Given the description of an element on the screen output the (x, y) to click on. 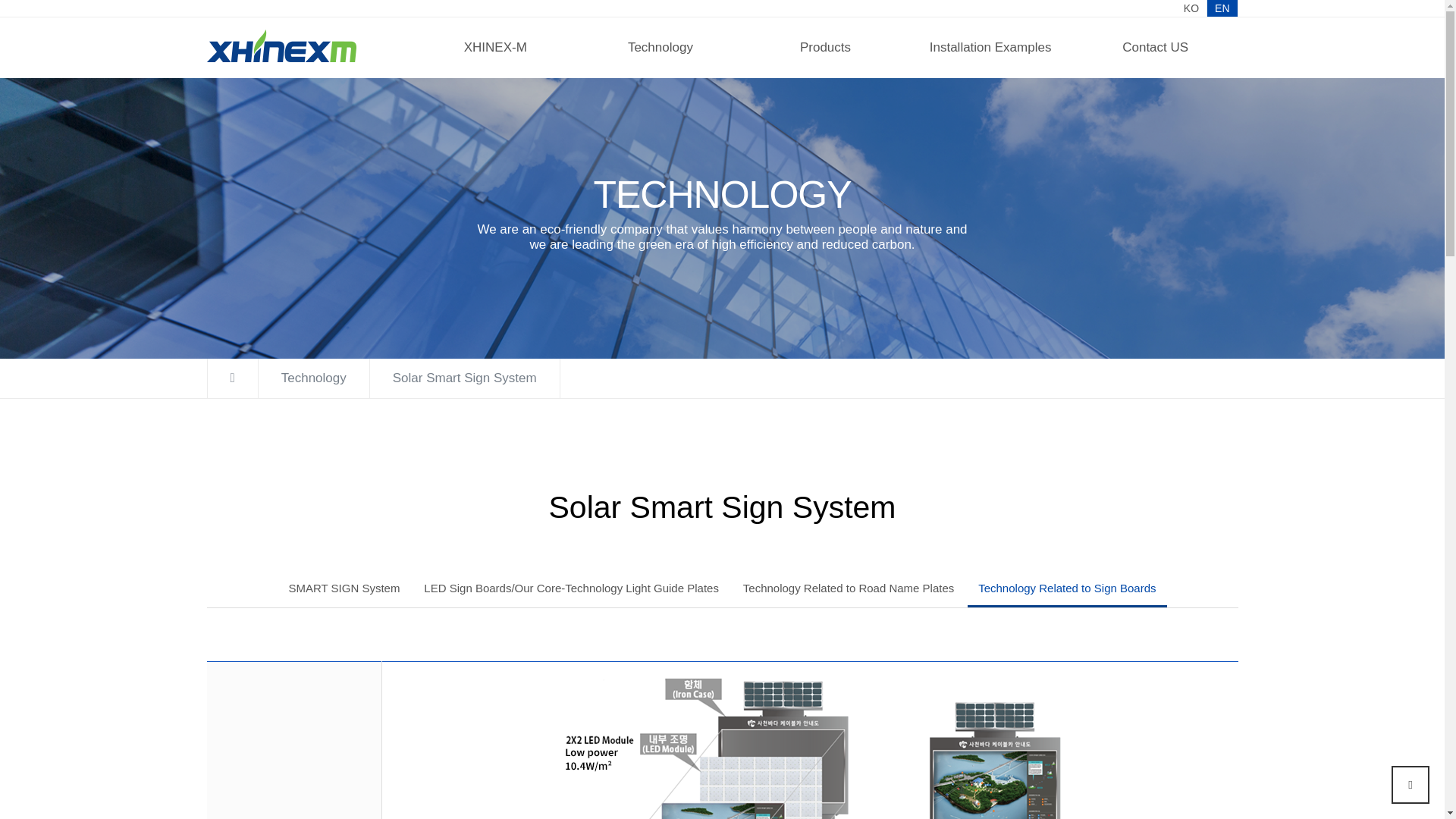
Technology (660, 47)
Products (825, 47)
EN (1221, 8)
KO (1190, 8)
Installation Examples (990, 47)
XHINEX-M (495, 47)
